Given the description of an element on the screen output the (x, y) to click on. 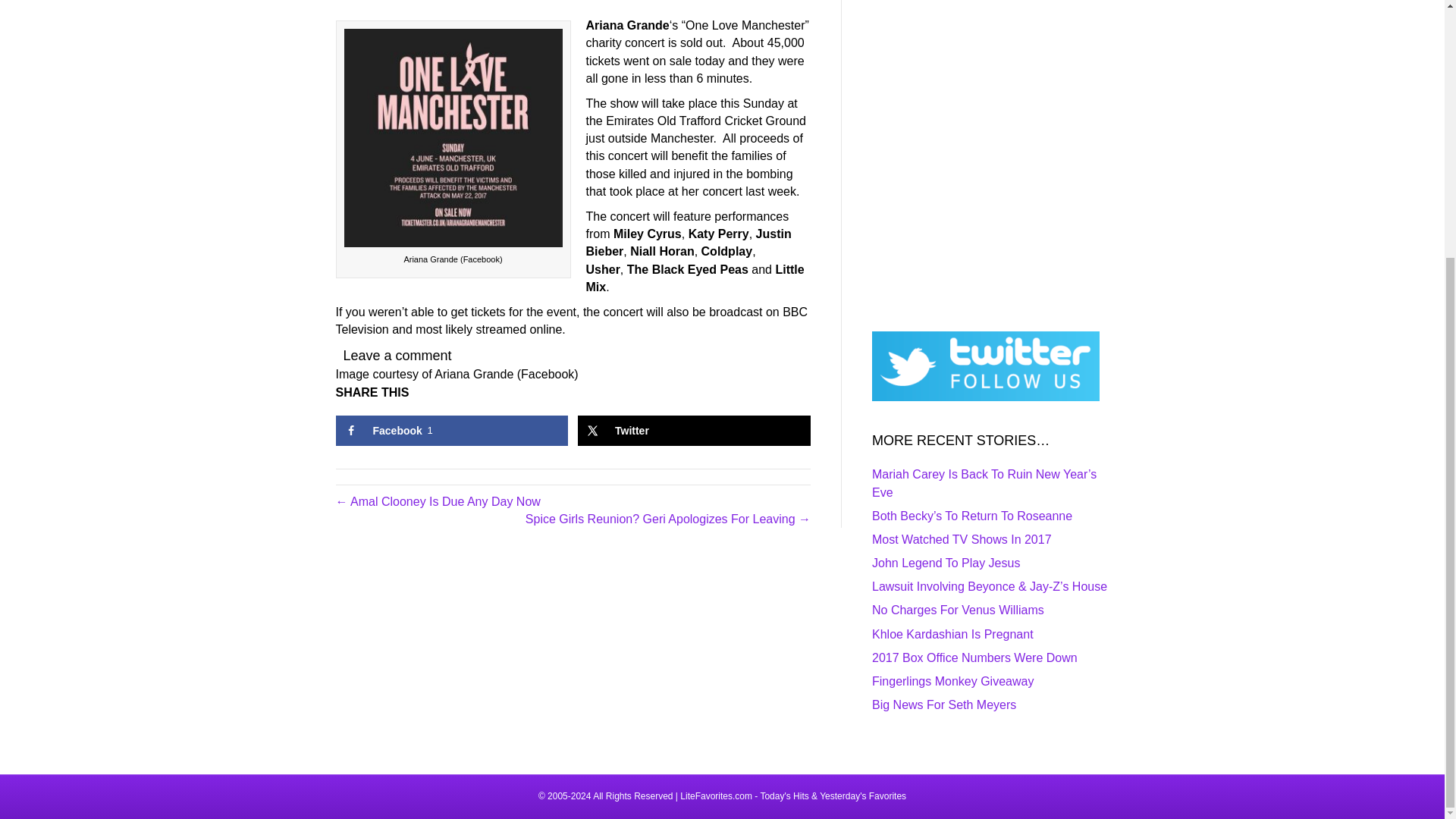
2017 Box Office Numbers Were Down (974, 657)
Khloe Kardashian Is Pregnant (952, 634)
Share on Facebook (450, 430)
Fingerlings Monkey Giveaway (450, 430)
Most Watched TV Shows In 2017 (952, 680)
Twitter (961, 539)
John Legend To Play Jesus (694, 430)
No Charges For Venus Williams (946, 562)
Big News For Seth Meyers (957, 609)
